Given the description of an element on the screen output the (x, y) to click on. 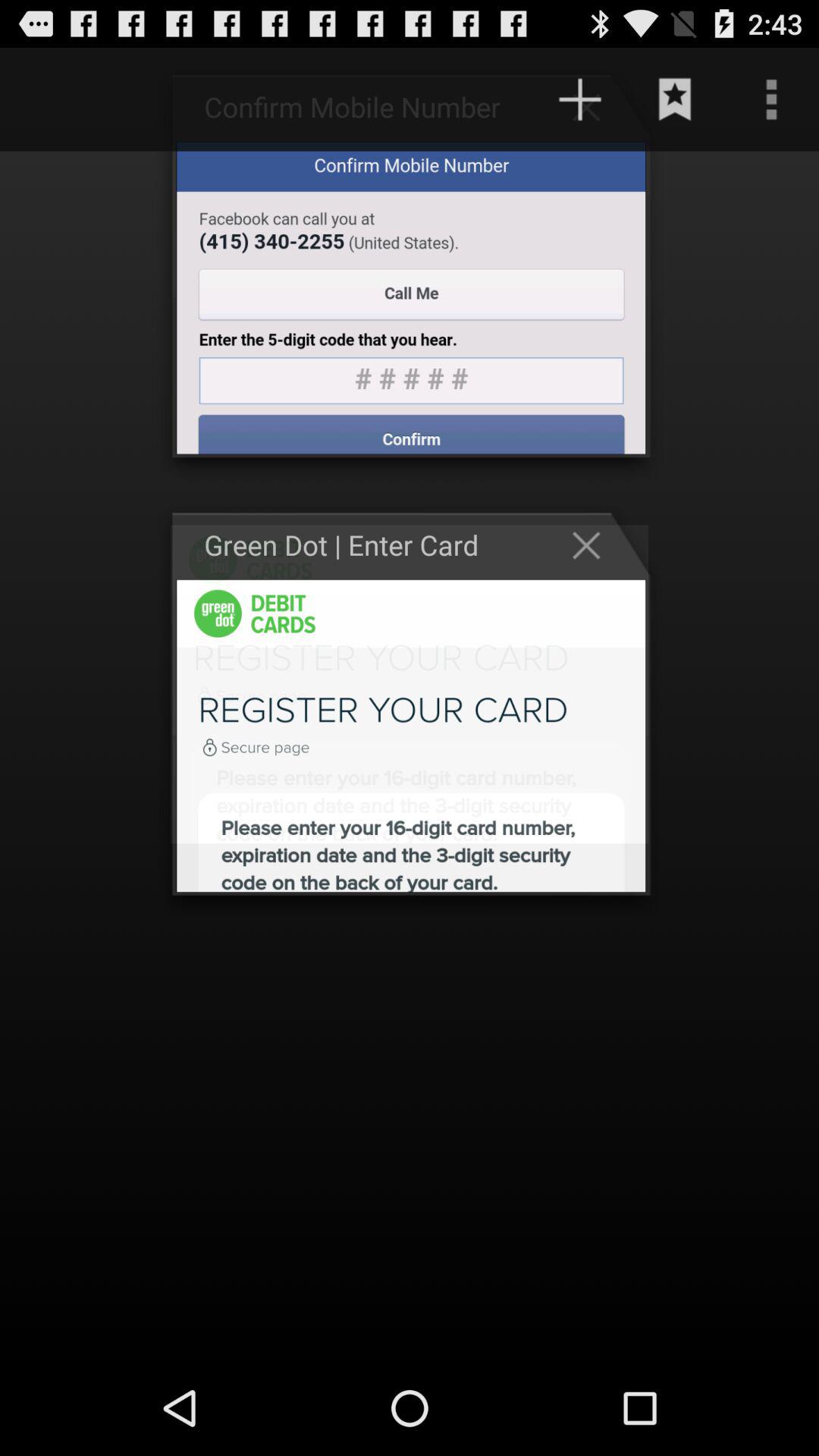
click on the add icon (580, 99)
select add option which is before save option (594, 106)
select the multiple content which is below green dotenter card (410, 735)
click on the wrong option to the right of the text green dot i enter card (594, 544)
